Given the description of an element on the screen output the (x, y) to click on. 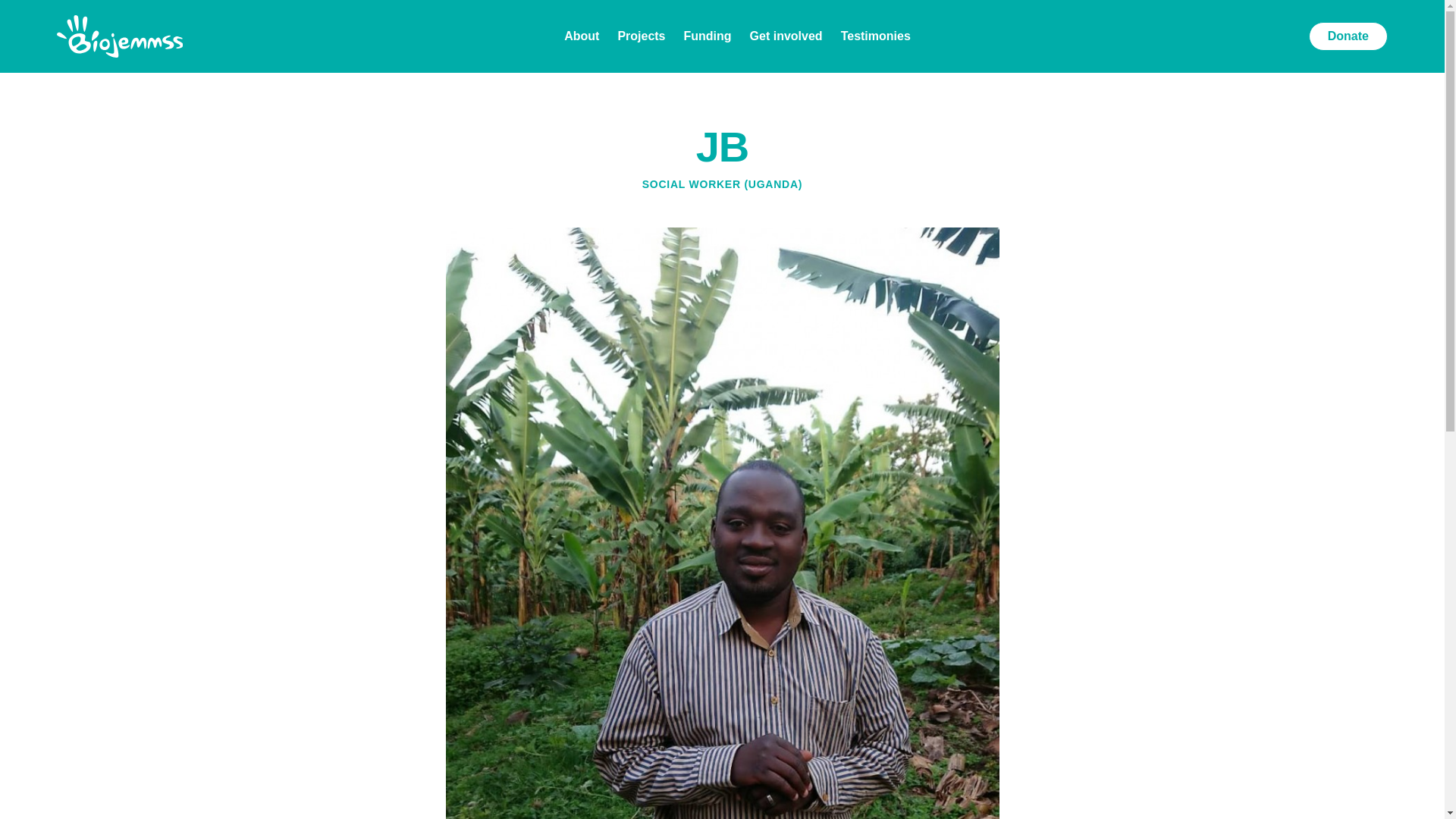
Get involved (785, 36)
Projects (641, 36)
About (581, 36)
Donate (1347, 36)
Testimonies (876, 36)
Funding (708, 36)
